Given the description of an element on the screen output the (x, y) to click on. 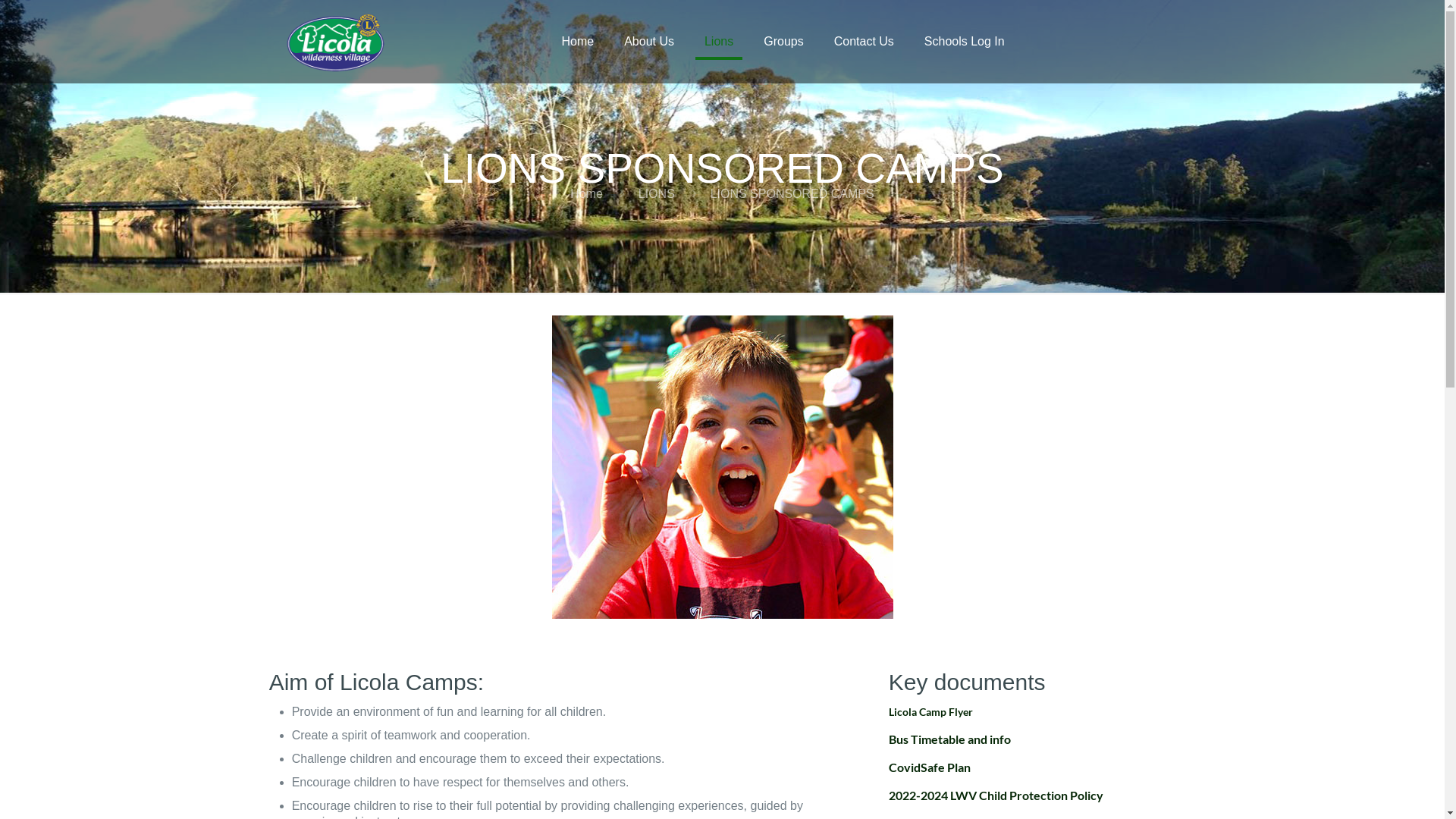
Home Element type: text (586, 193)
Lions Element type: text (718, 41)
Schools Log In Element type: text (964, 41)
LIONS Element type: text (656, 193)
Licola Wilderness Village Element type: hover (335, 41)
Groups Element type: text (783, 41)
Licola Camp Flyer Element type: text (930, 711)
Bus Timetable and info Element type: text (949, 739)
2022-2024 LWV Child Protection Policy Element type: text (995, 794)
CovidSafe Plan Element type: text (929, 766)
About Us Element type: text (648, 41)
Contact Us Element type: text (864, 41)
Home Element type: text (577, 41)
